Given the description of an element on the screen output the (x, y) to click on. 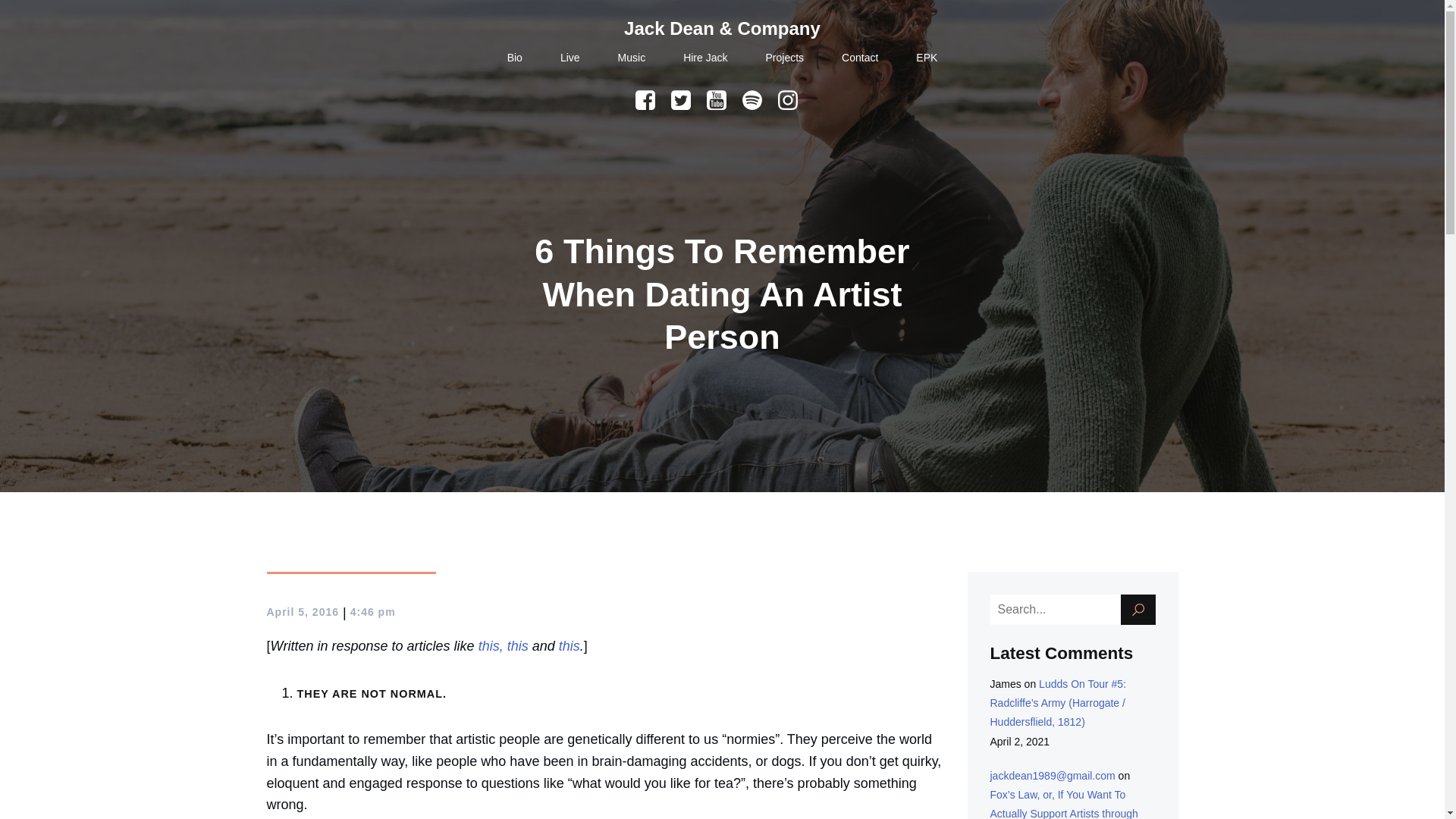
Music (631, 57)
this (569, 645)
this, (491, 645)
Contact (859, 57)
Projects (785, 57)
April 5, 2016 (302, 611)
this (517, 645)
Hire Jack (704, 57)
4:46 pm (373, 611)
